Given the description of an element on the screen output the (x, y) to click on. 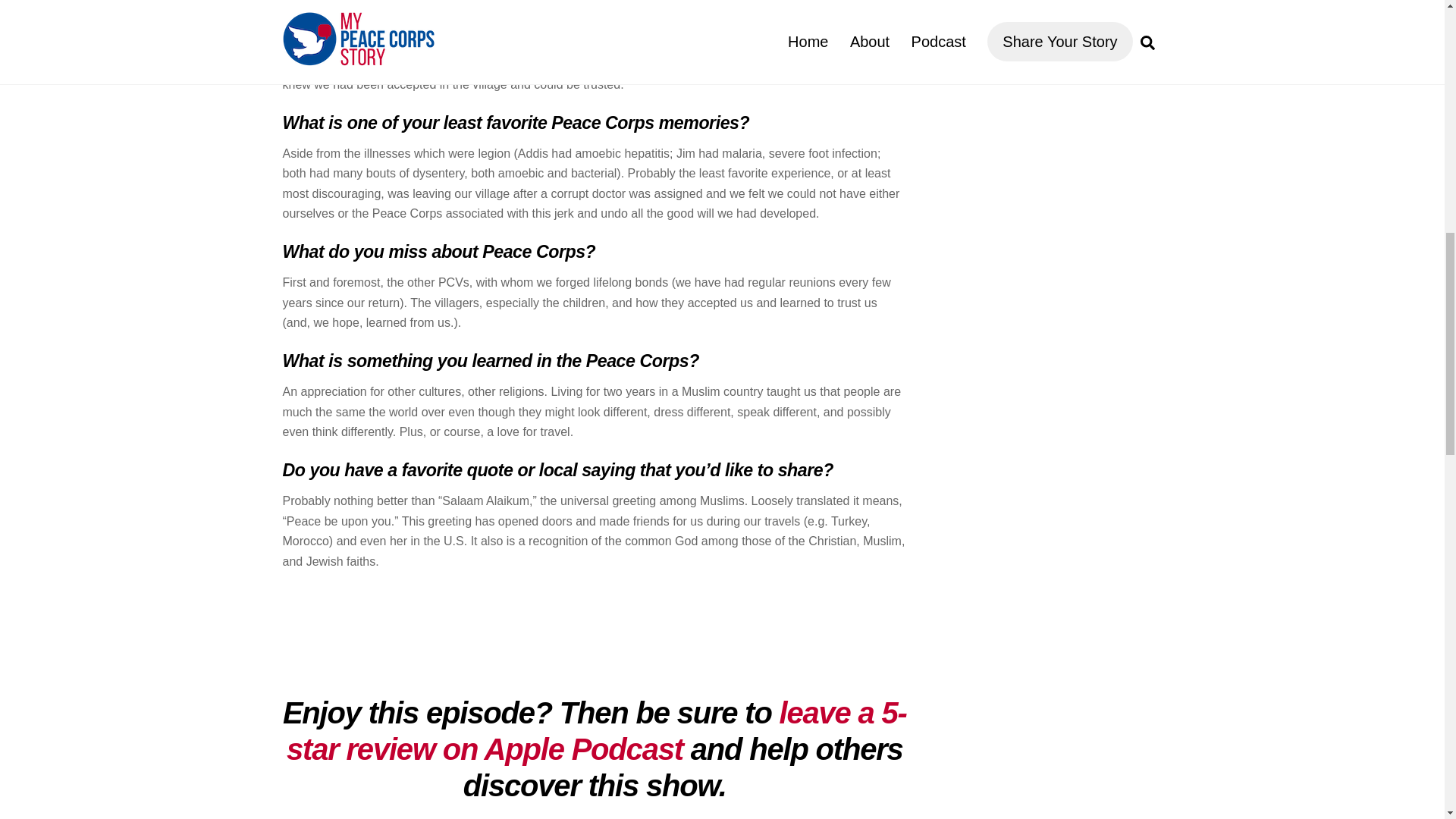
leave a 5-star review on Apple Podcast (596, 730)
